Given the description of an element on the screen output the (x, y) to click on. 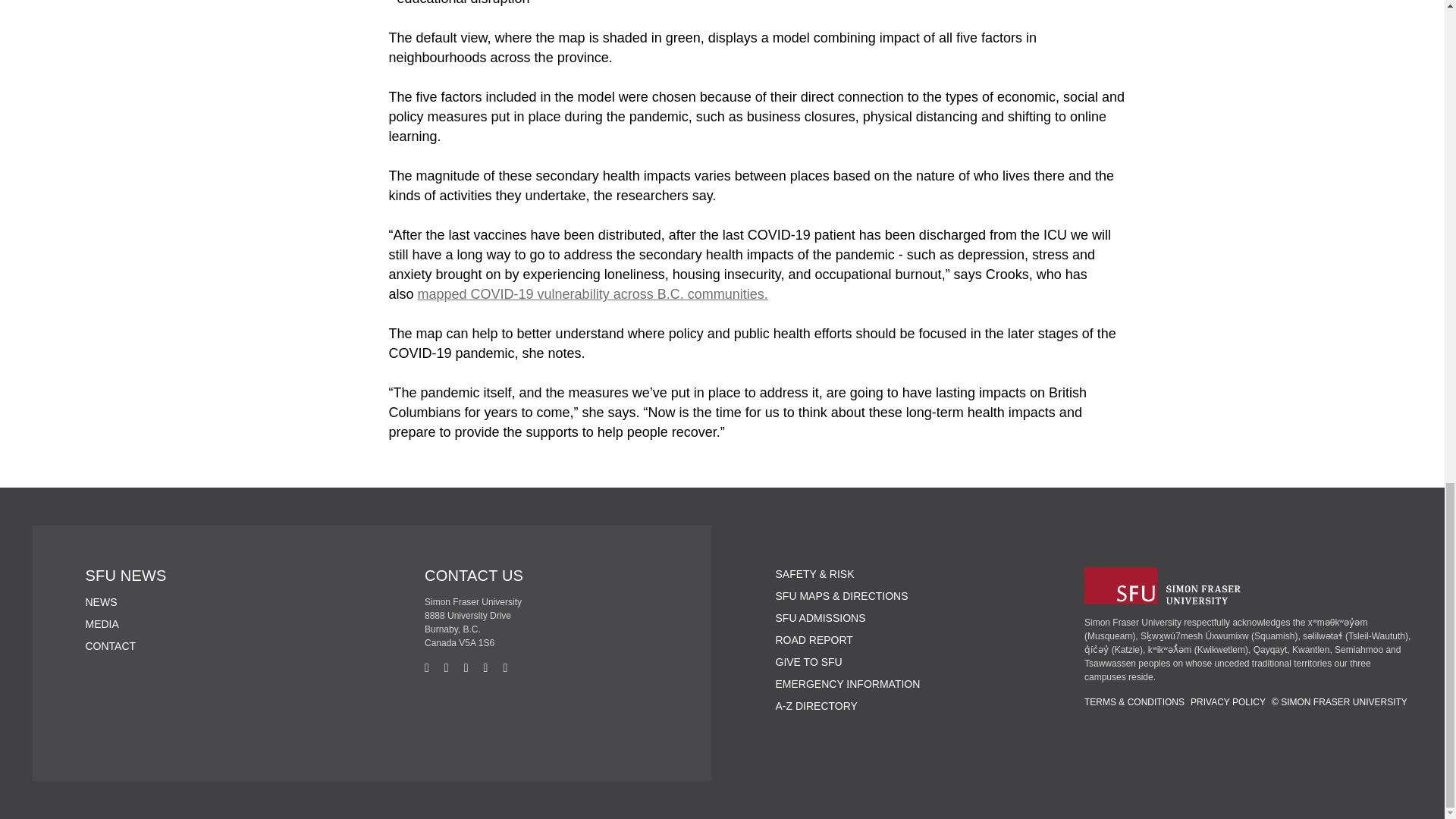
mapped COVID-19 vulnerability across B.C. communities. (592, 294)
NEWS (100, 602)
